Given the description of an element on the screen output the (x, y) to click on. 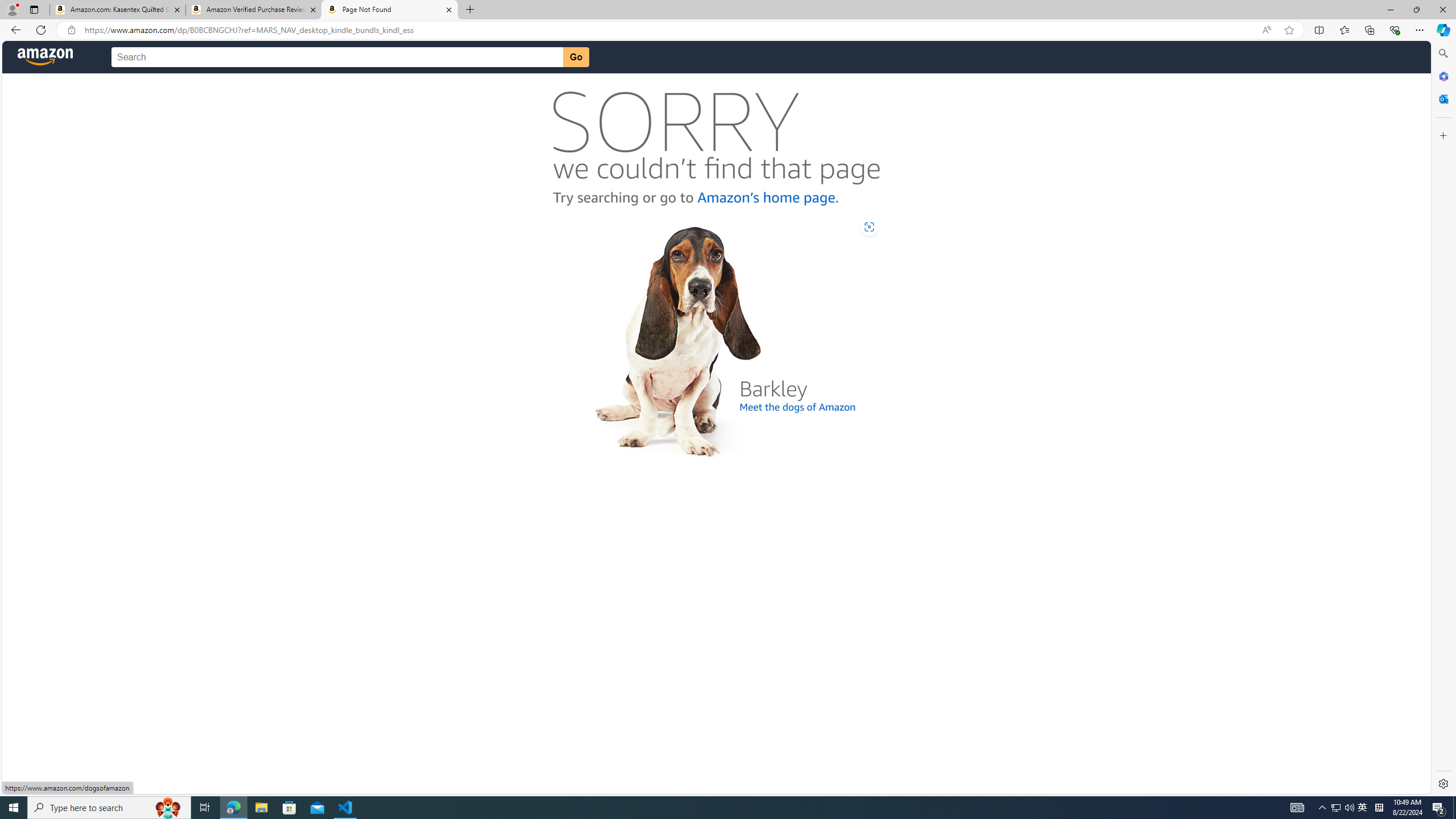
Dogs of Amazon (715, 336)
Amazon (45, 57)
Amazon Verified Purchase Reviews - Amazon Customer Service (253, 9)
